Given the description of an element on the screen output the (x, y) to click on. 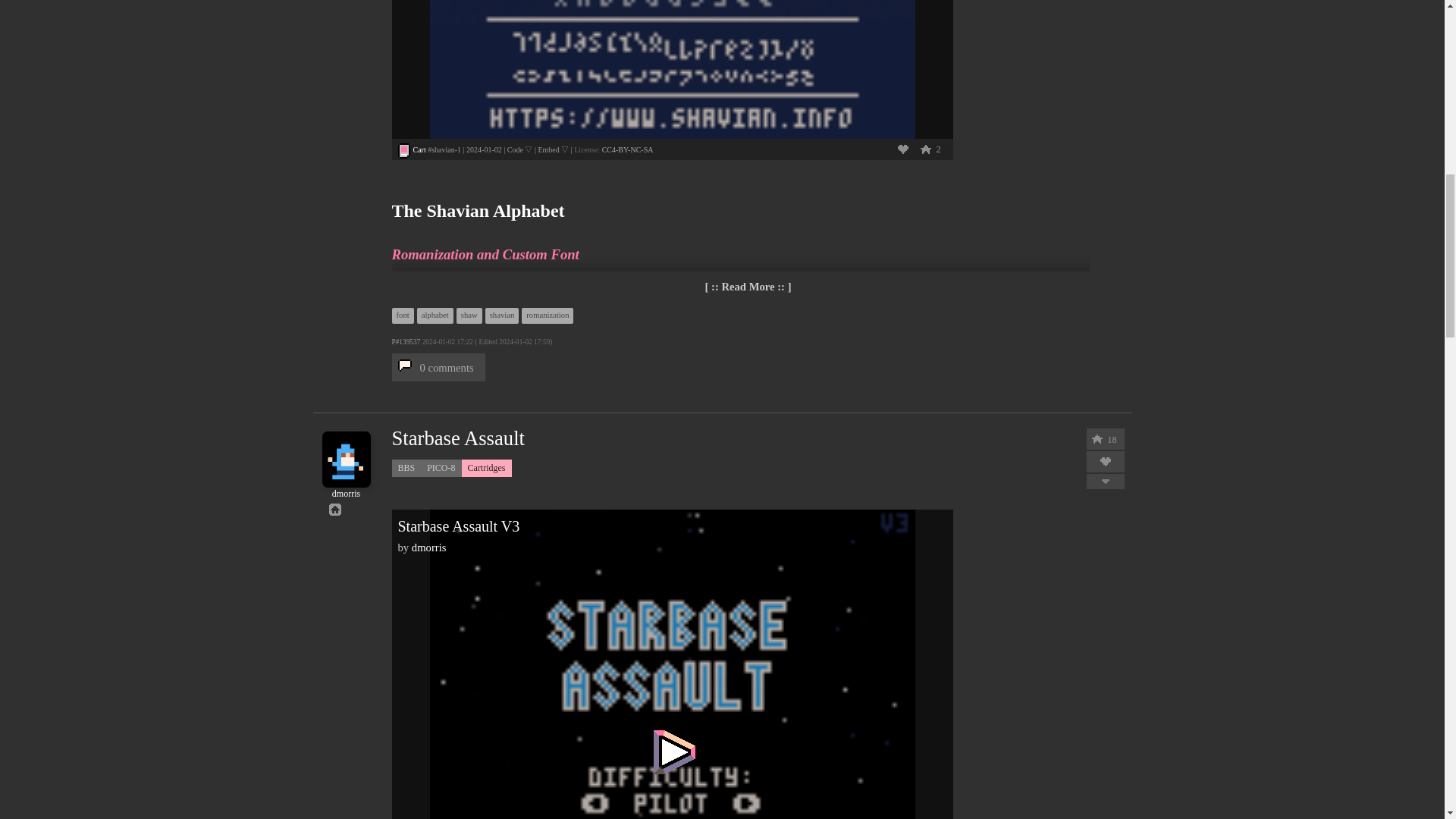
Open Cartridge File (418, 149)
2024-01-02 17:08:00 (483, 149)
Give this post a star (925, 149)
